Given the description of an element on the screen output the (x, y) to click on. 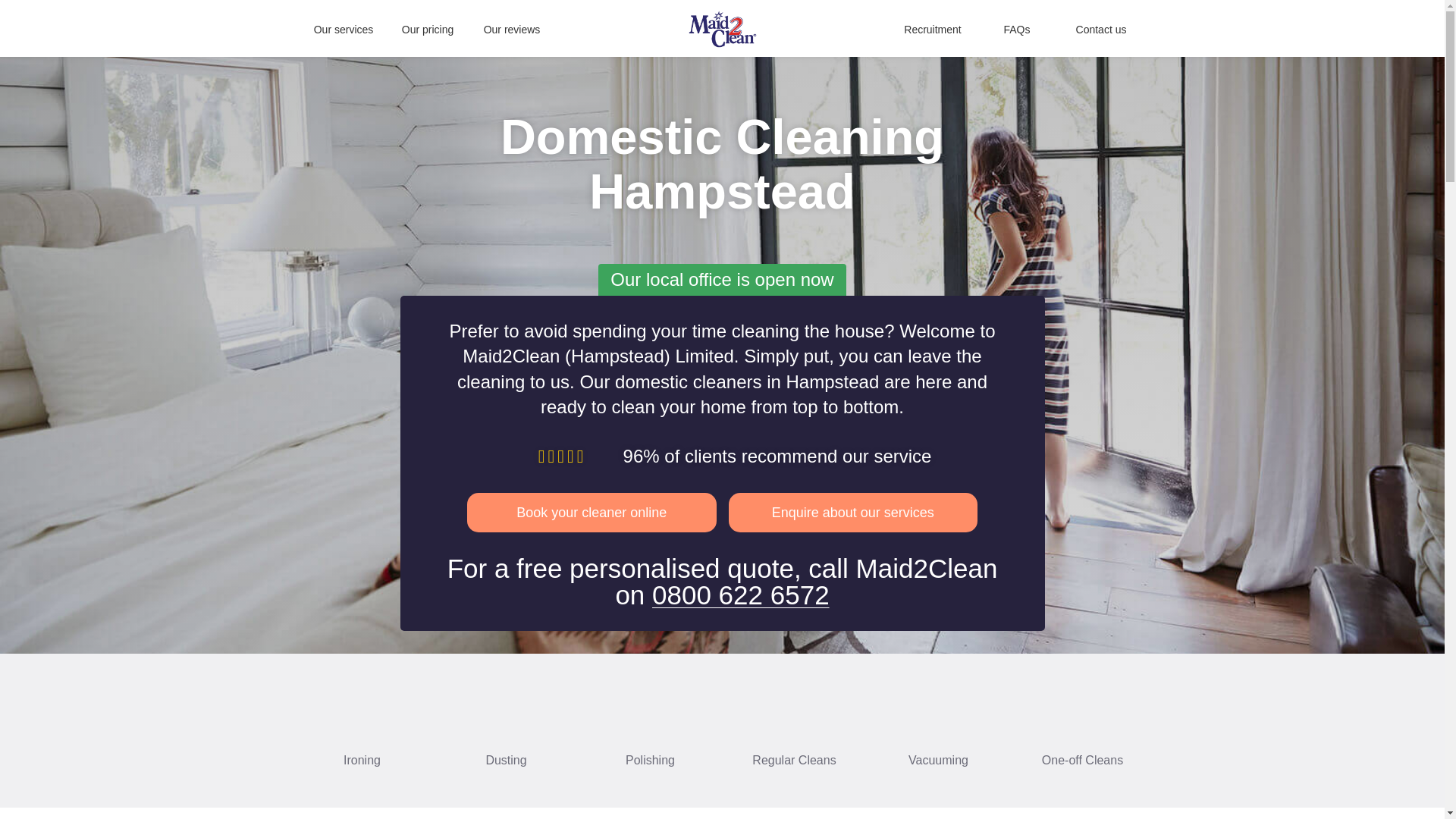
Our reviews (511, 29)
Enquire about our services (852, 512)
0800 622 6572 (740, 594)
FAQs (1016, 29)
Our pricing (426, 29)
Our services (344, 29)
Our pricing (426, 29)
Contact us (1100, 29)
Book your cleaner online (591, 512)
Recruitment (932, 29)
